Given the description of an element on the screen output the (x, y) to click on. 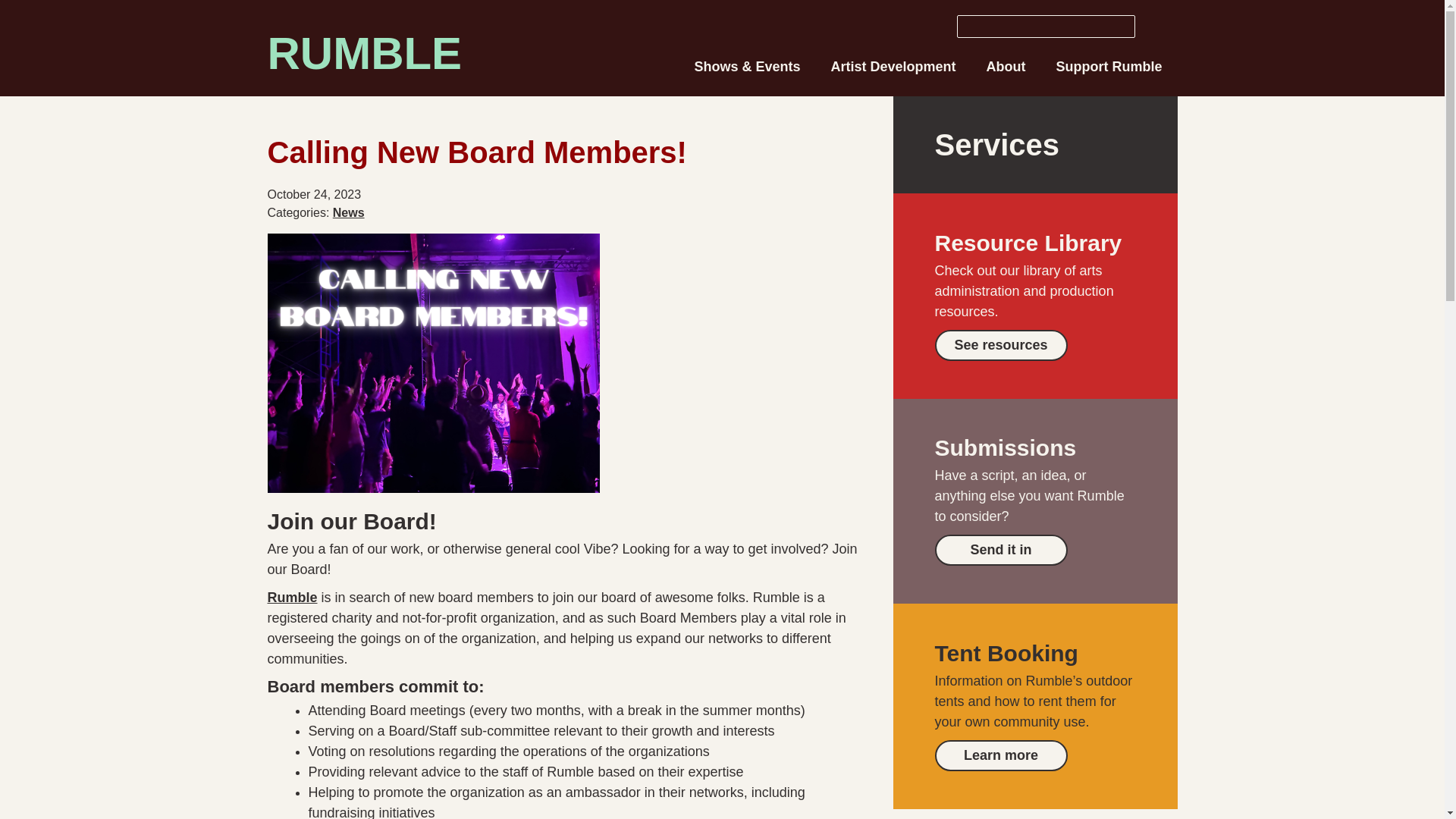
Rumble (291, 597)
Learn more (1000, 755)
Artist Development (893, 67)
RUMBLE (363, 52)
About (1006, 67)
Send it in (1000, 549)
News (349, 212)
See resources (1000, 344)
Support Rumble (1108, 67)
